Given the description of an element on the screen output the (x, y) to click on. 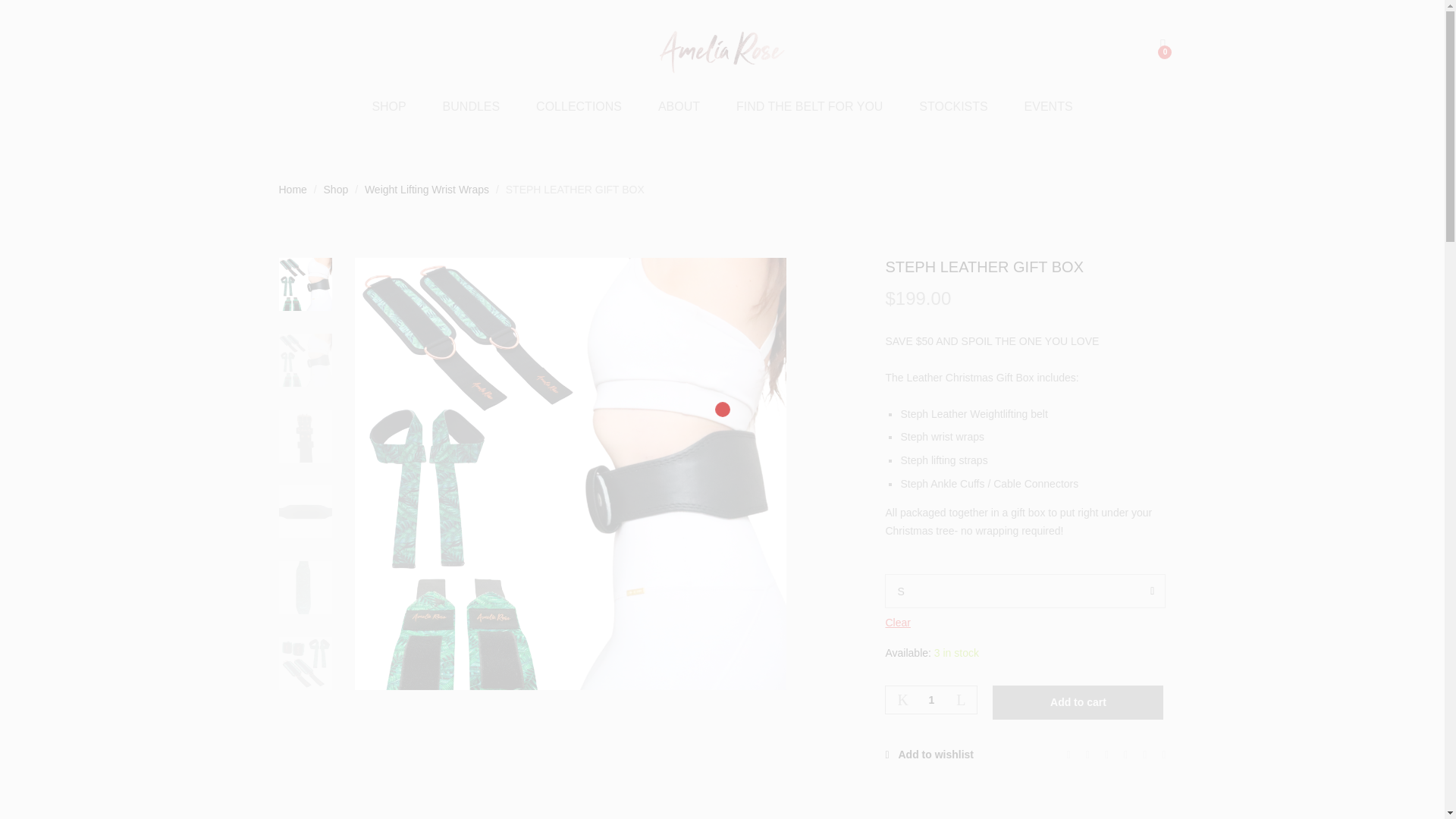
1 (930, 699)
EVENTS (1049, 106)
ABOUT (679, 106)
Qty (930, 699)
BUNDLES (471, 106)
Shop (336, 189)
SHOP (388, 106)
COLLECTIONS (578, 106)
FIND THE BELT FOR YOU (809, 106)
